Given the description of an element on the screen output the (x, y) to click on. 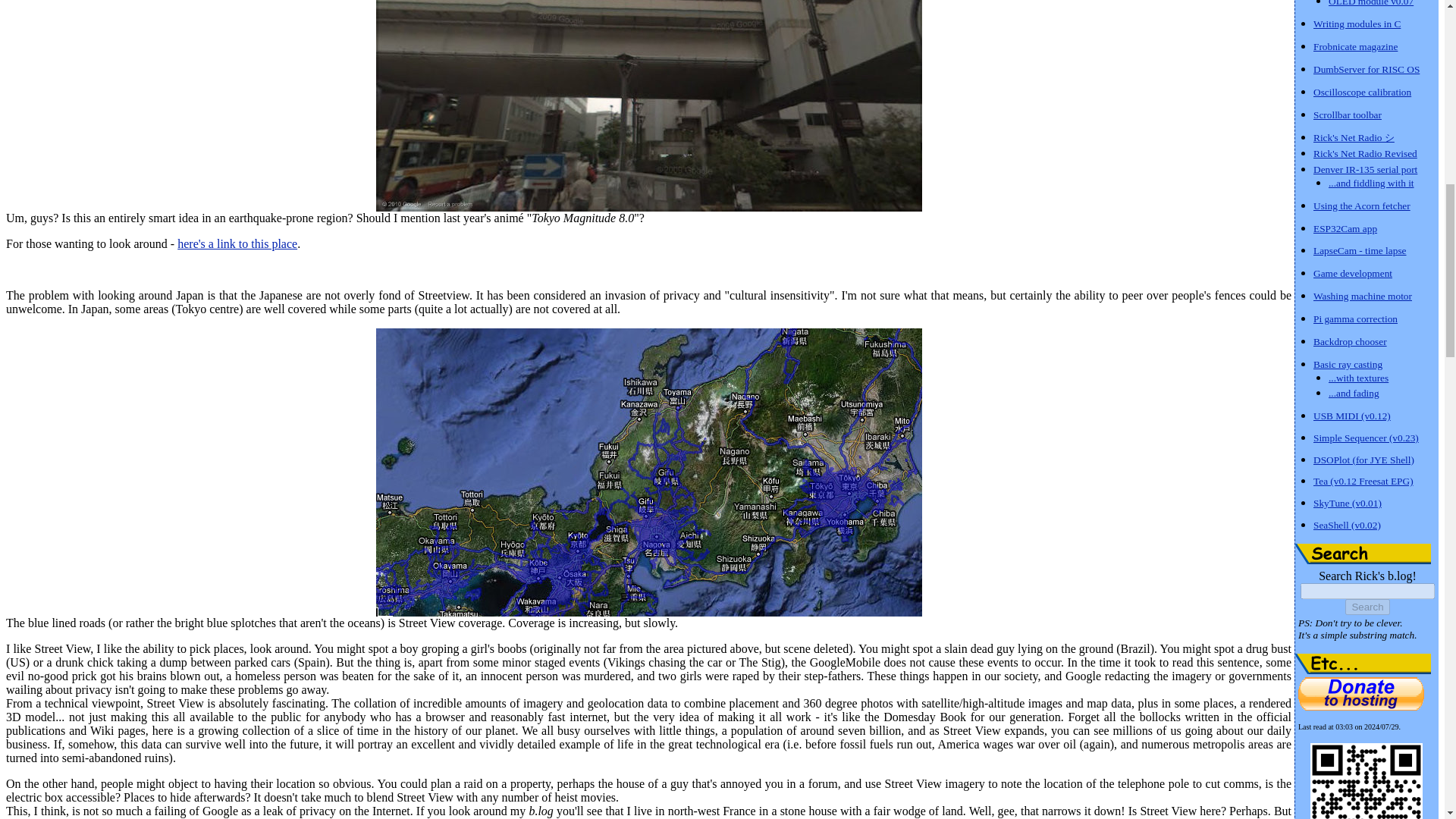
Looking north (648, 105)
Search (1367, 606)
here's a link to this place (237, 243)
